Given the description of an element on the screen output the (x, y) to click on. 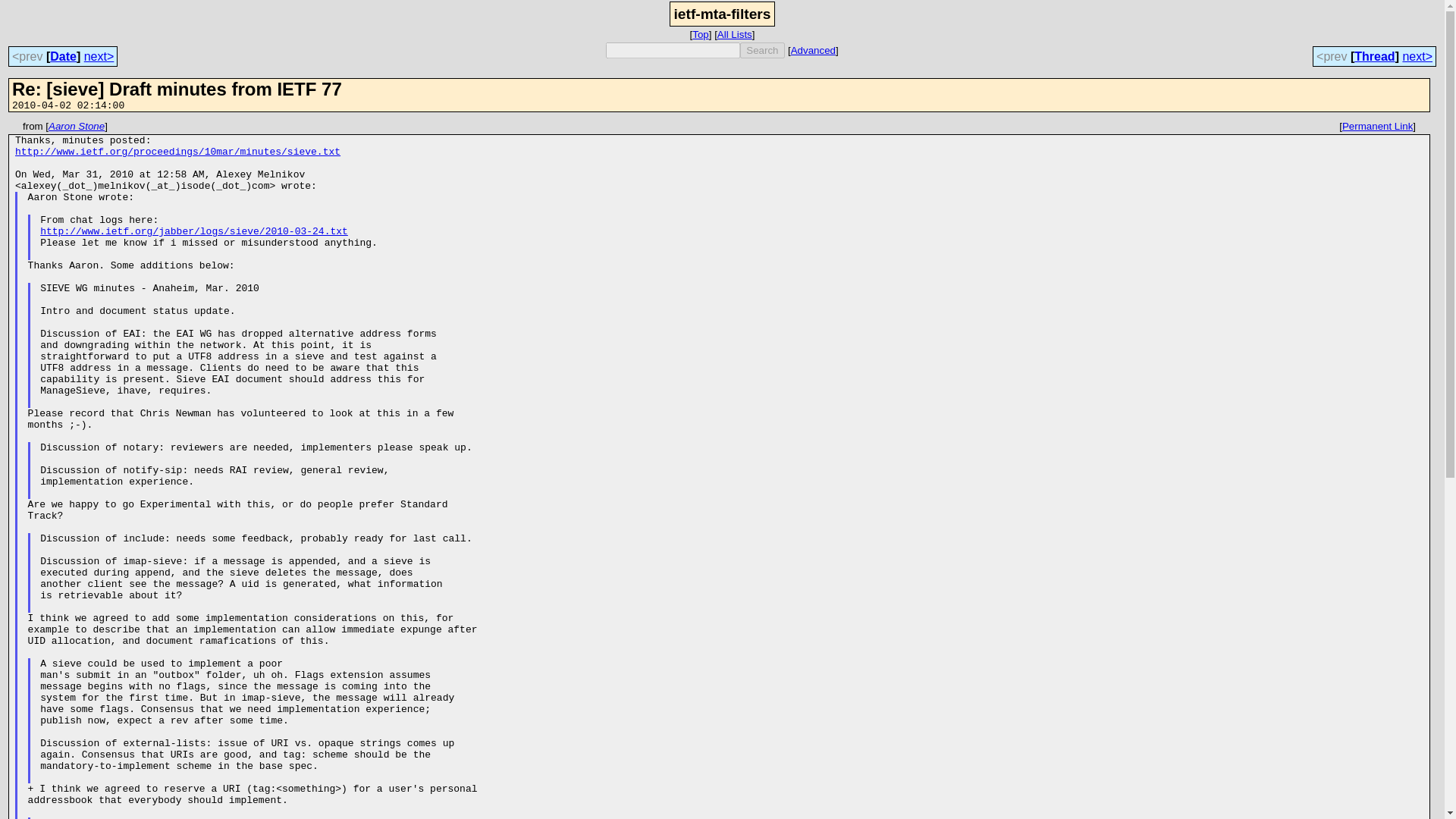
Advanced (812, 50)
Aaron Stone (76, 125)
Date (63, 56)
Thread (1374, 56)
Top (701, 34)
All Lists (734, 34)
Search (761, 50)
Search (761, 50)
Permanent Link (1377, 125)
